Given the description of an element on the screen output the (x, y) to click on. 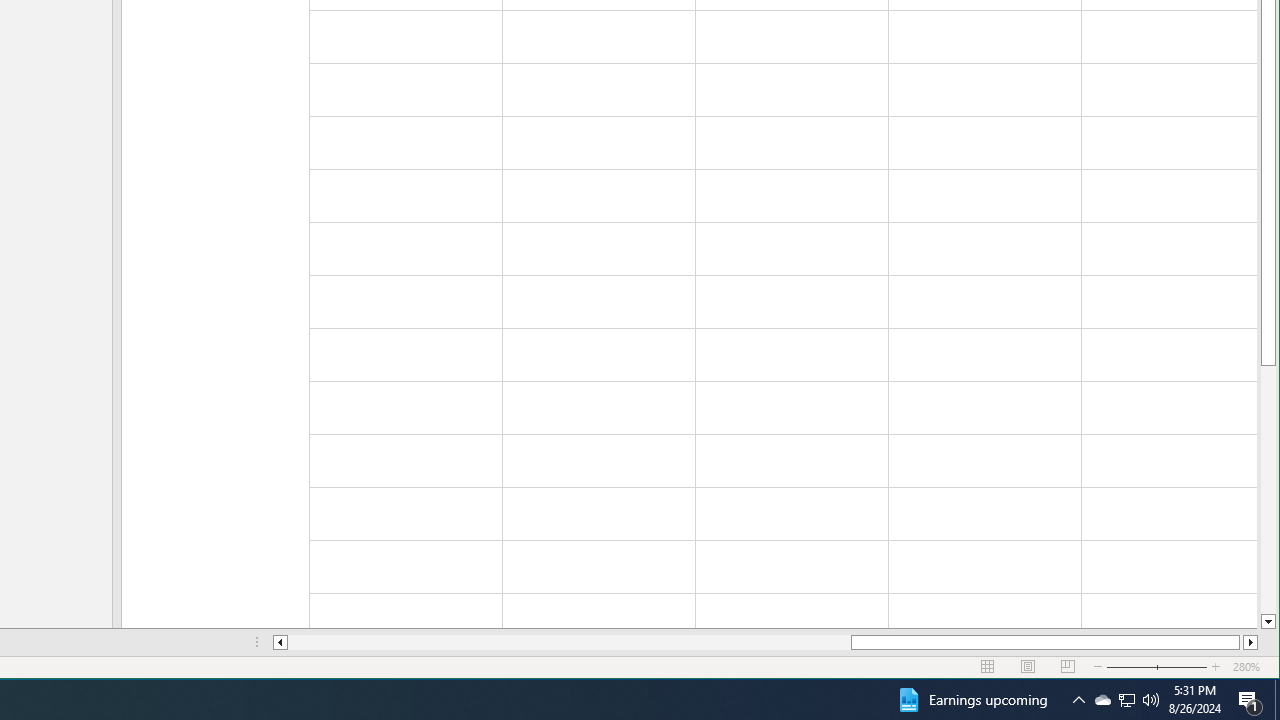
User Promoted Notification Area (1126, 699)
Q2790: 100% (1126, 699)
Notification Chevron (1151, 699)
Show desktop (1078, 699)
Earnings upcoming (1277, 699)
